Given the description of an element on the screen output the (x, y) to click on. 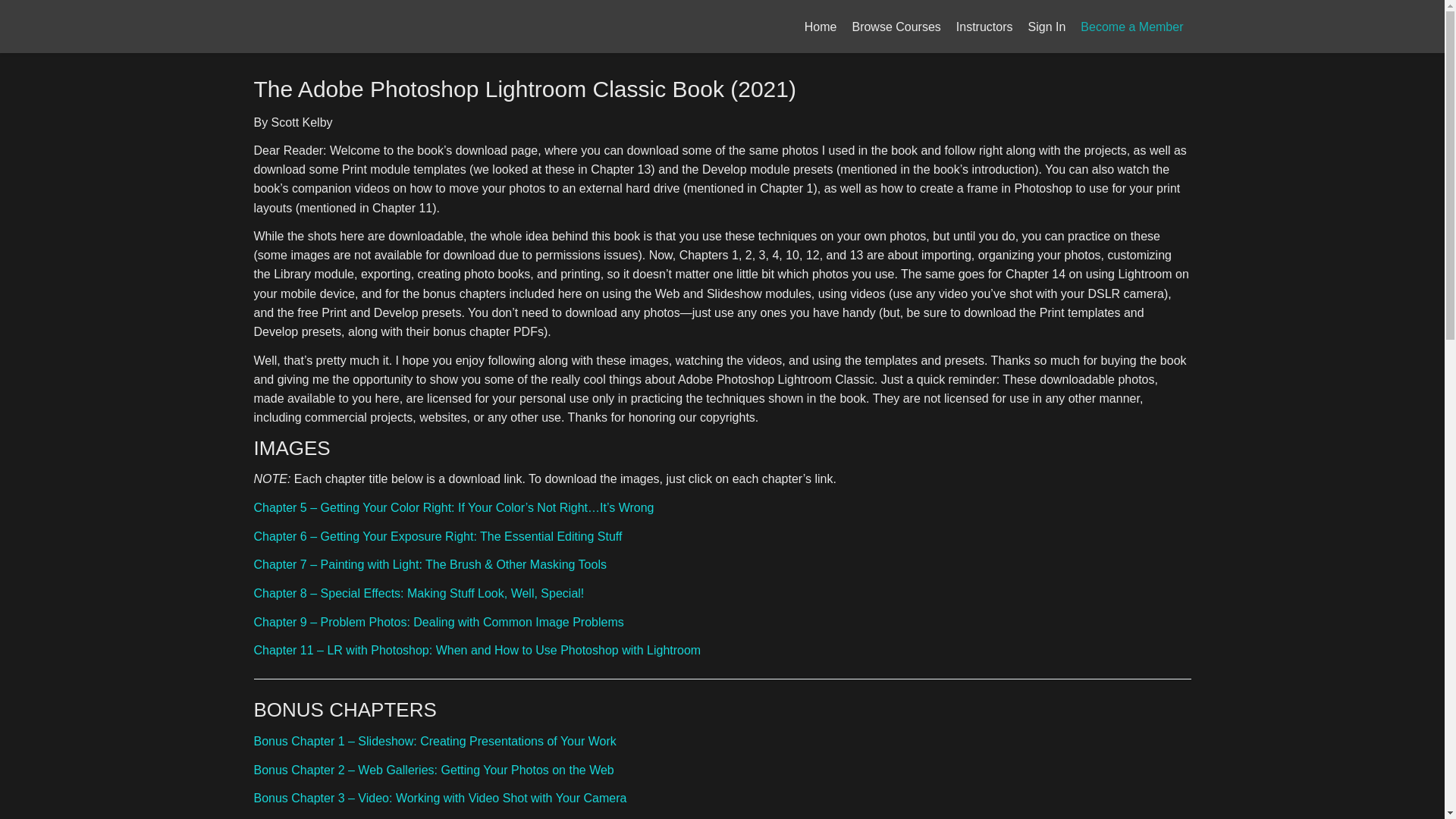
Sign In (1047, 26)
Instructors (984, 26)
Browse Courses (895, 26)
Home (820, 26)
Become a Member (1132, 26)
